Given the description of an element on the screen output the (x, y) to click on. 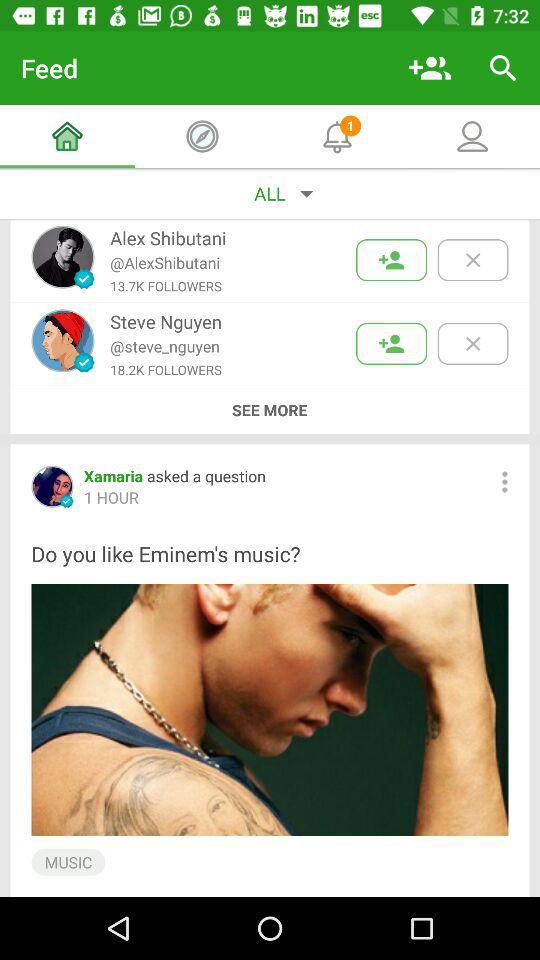
turn off the item next to xamaria asked a (504, 481)
